Given the description of an element on the screen output the (x, y) to click on. 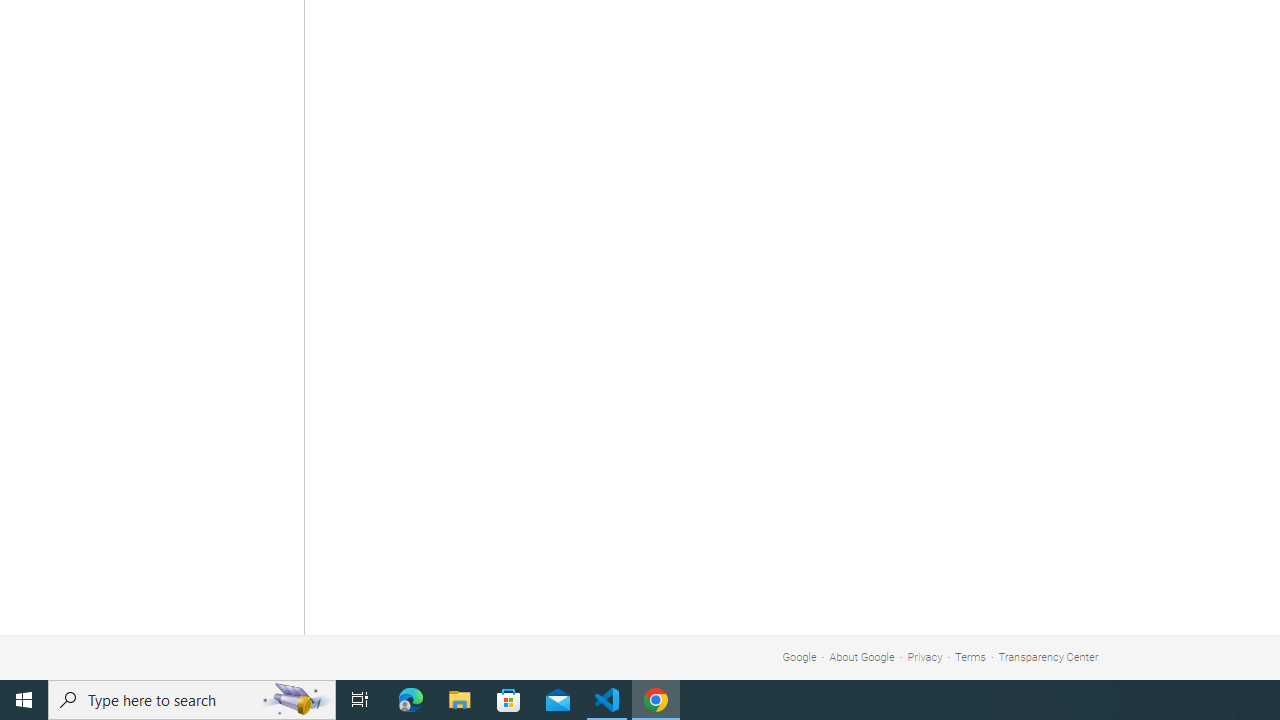
Transparency Center (1048, 656)
About Google (861, 656)
